Given the description of an element on the screen output the (x, y) to click on. 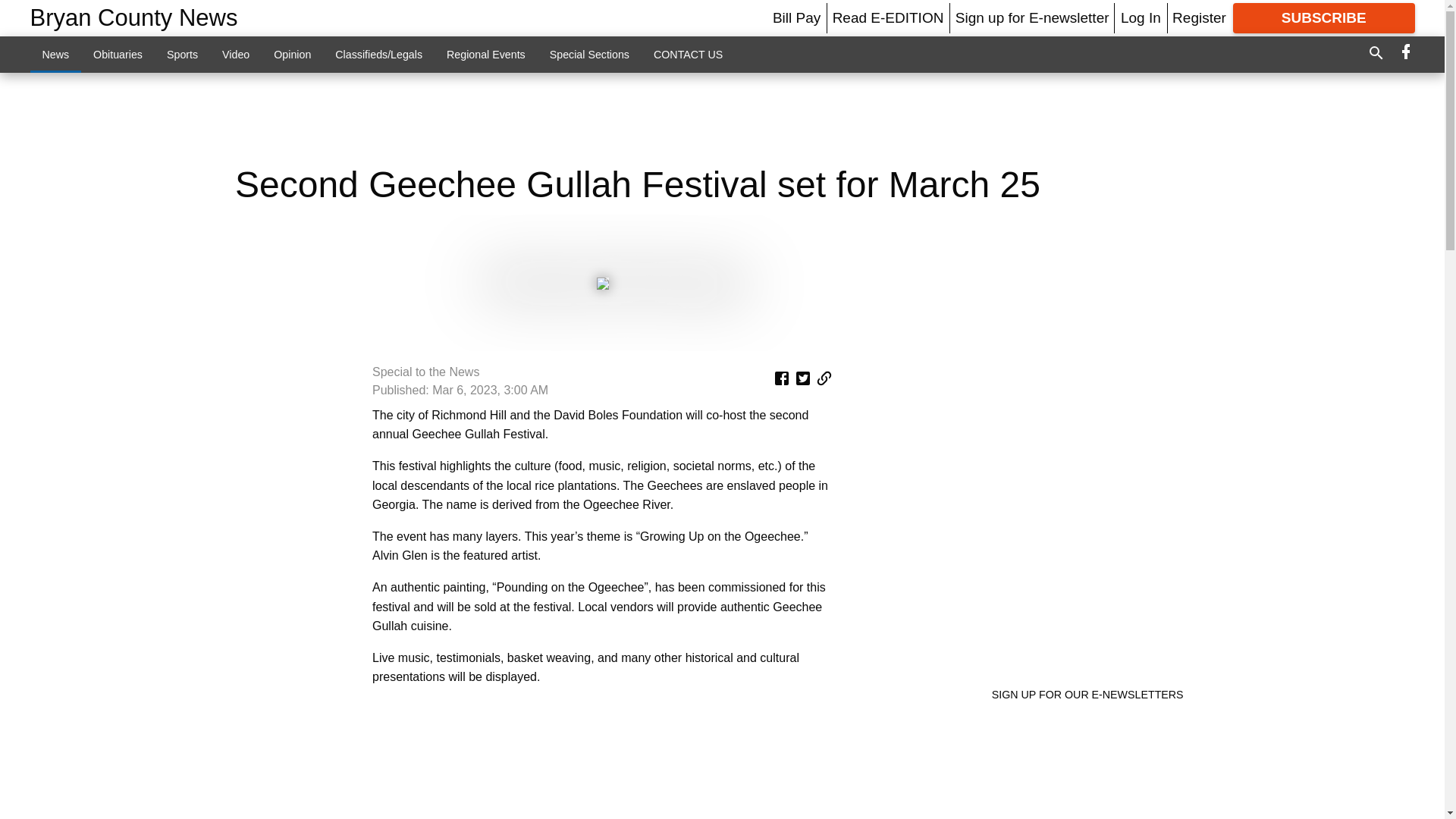
Log In (1140, 17)
Regional Events (485, 54)
Sports (181, 54)
SUBSCRIBE (1324, 18)
3rd party ad content (721, 119)
CONTACT US (688, 54)
Bill Pay (797, 17)
Obituaries (117, 54)
3rd party ad content (602, 762)
Read E-EDITION (887, 17)
Special Sections (589, 54)
News (55, 54)
Register (1198, 17)
Bryan County News (134, 17)
Opinion (292, 54)
